Given the description of an element on the screen output the (x, y) to click on. 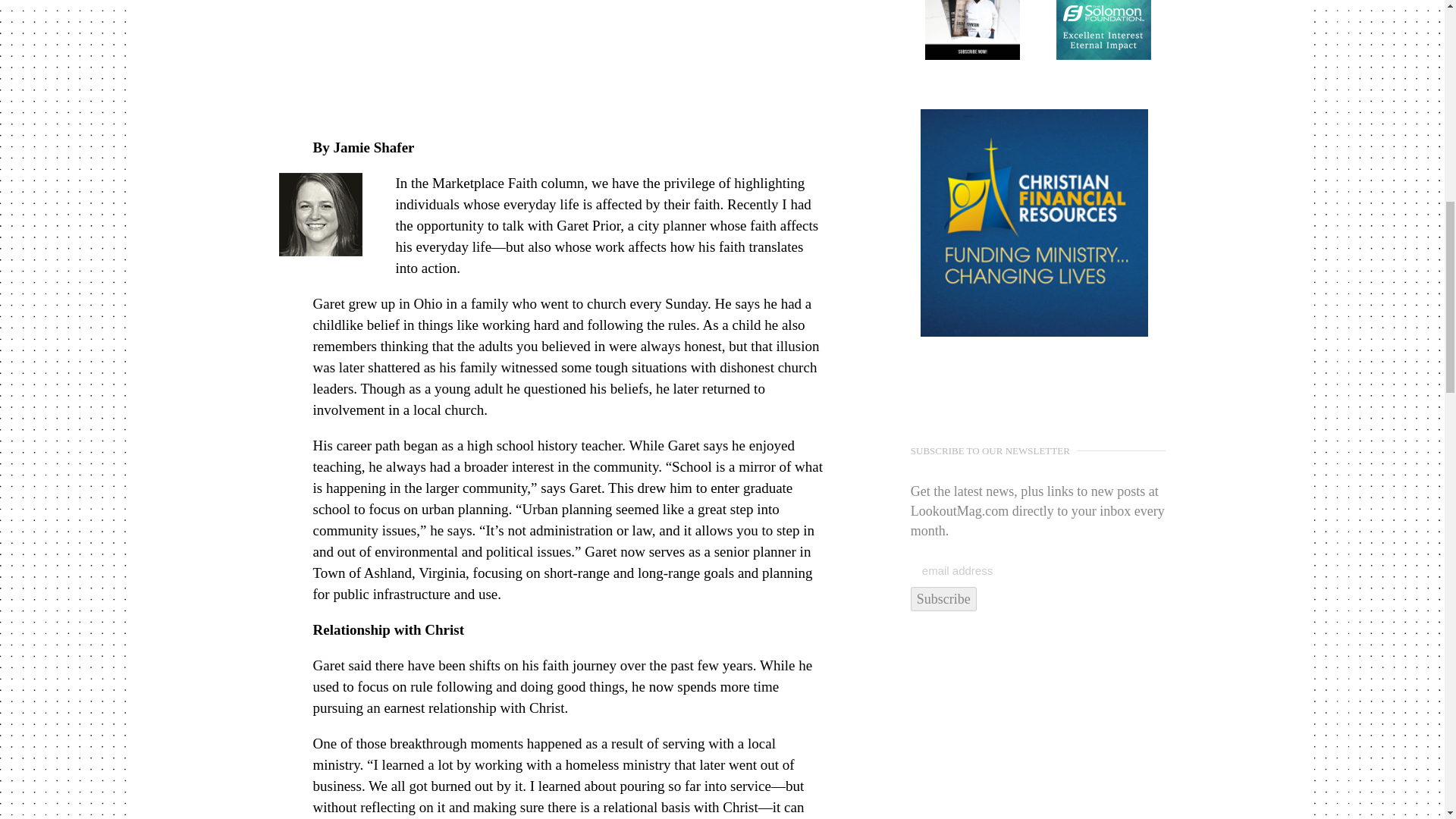
Subscribe (943, 598)
Subscribe (943, 598)
